Given the description of an element on the screen output the (x, y) to click on. 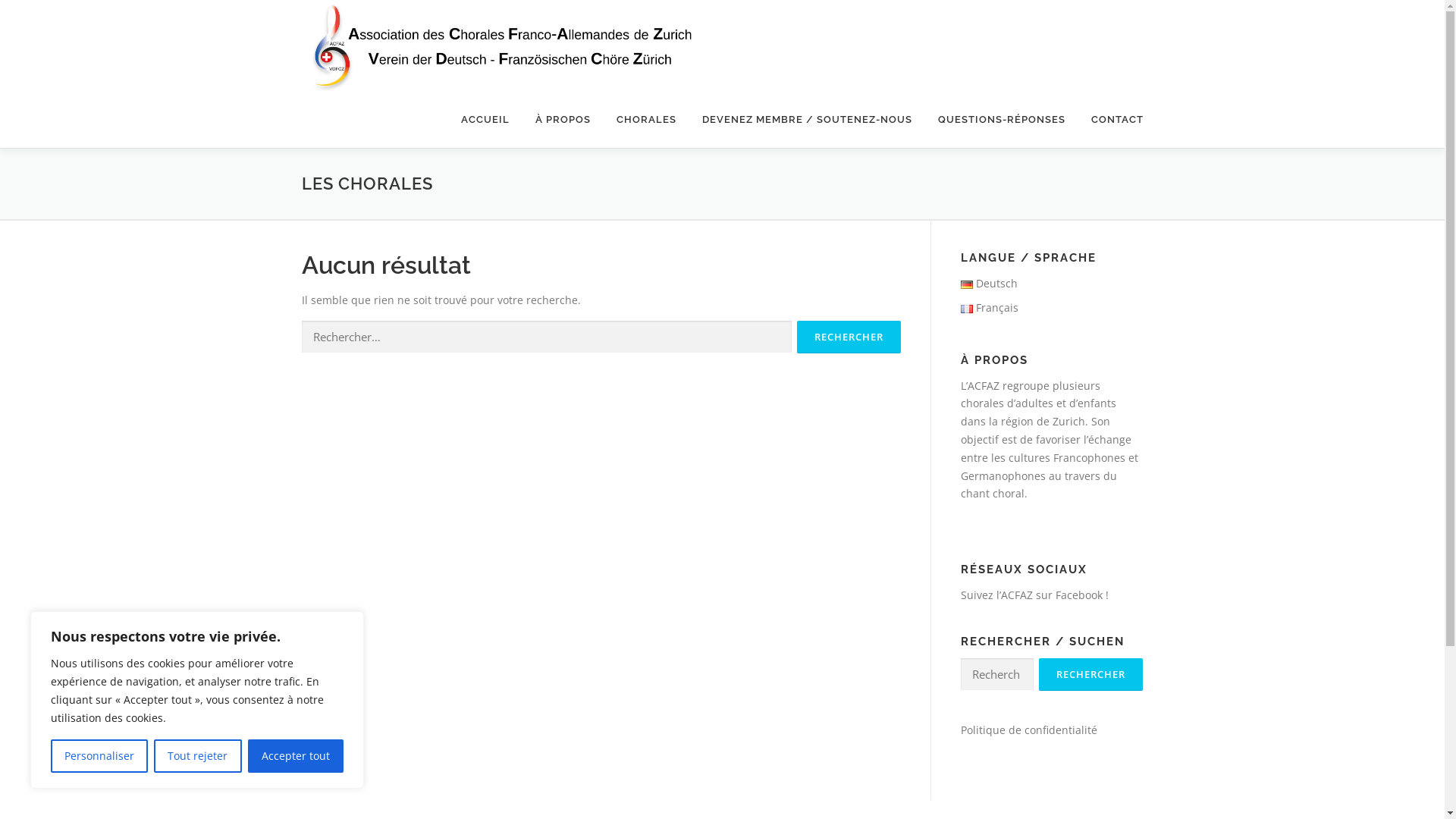
Tout rejeter Element type: text (197, 755)
Rechercher Element type: text (848, 336)
Personnaliser Element type: text (98, 755)
CONTACT Element type: text (1110, 119)
Rechercher Element type: text (1090, 674)
CHORALES Element type: text (646, 119)
Deutsch Element type: text (988, 283)
DEVENEZ MEMBRE / SOUTENEZ-NOUS Element type: text (806, 119)
Accepter tout Element type: text (295, 755)
Facebook Element type: text (1078, 594)
ACCUEIL Element type: text (484, 119)
